Given the description of an element on the screen output the (x, y) to click on. 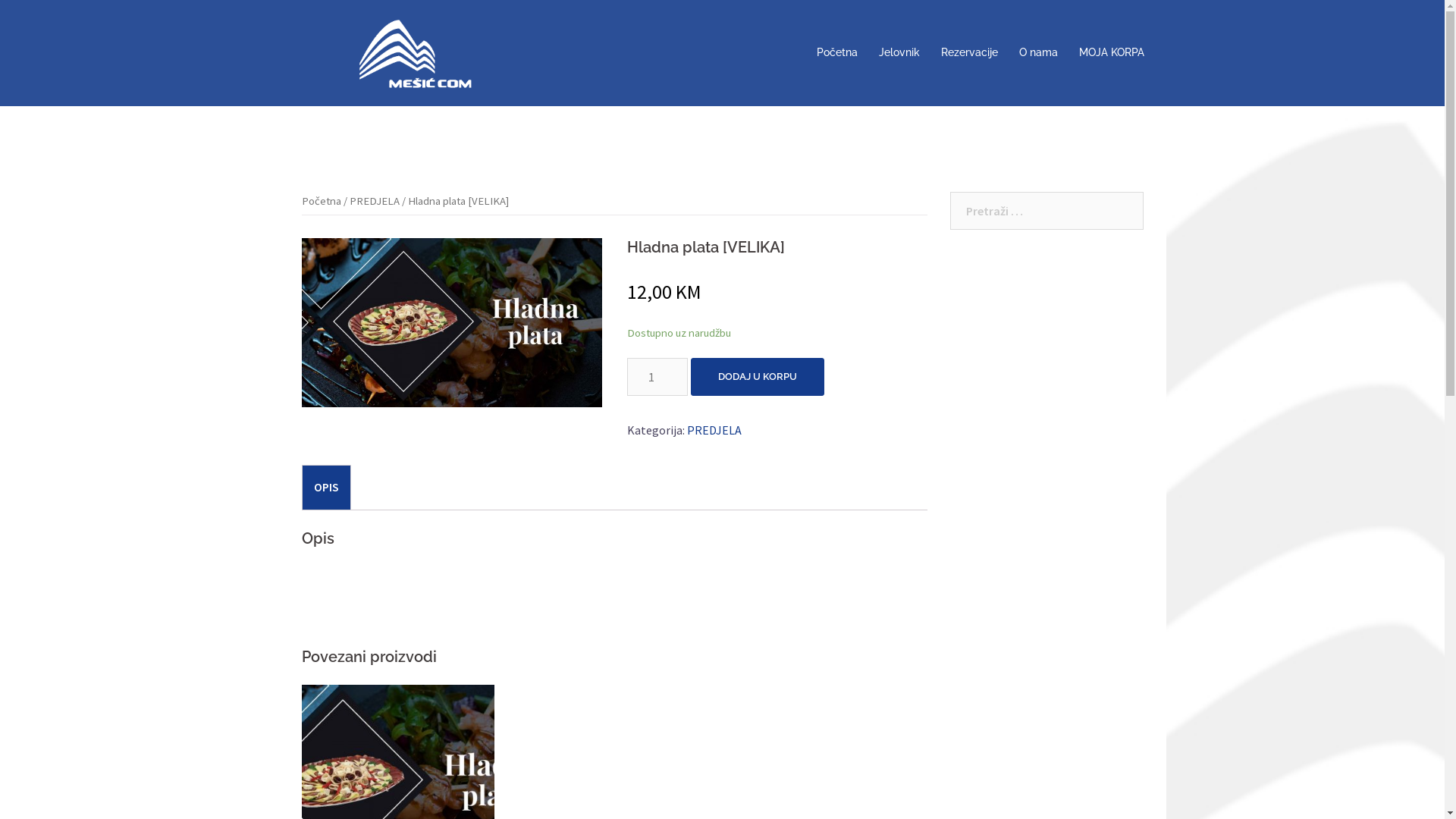
OPIS Element type: text (325, 486)
PREDJELA Element type: text (714, 429)
PREDJELA Element type: text (373, 200)
DODAJ U KORPU Element type: text (756, 376)
MOJA KORPA Element type: text (1110, 52)
Rezervacije Element type: text (968, 52)
6 Element type: hover (451, 322)
Jelovnik Element type: text (898, 52)
O nama Element type: text (1038, 52)
Pretraga Element type: text (52, 18)
